Given the description of an element on the screen output the (x, y) to click on. 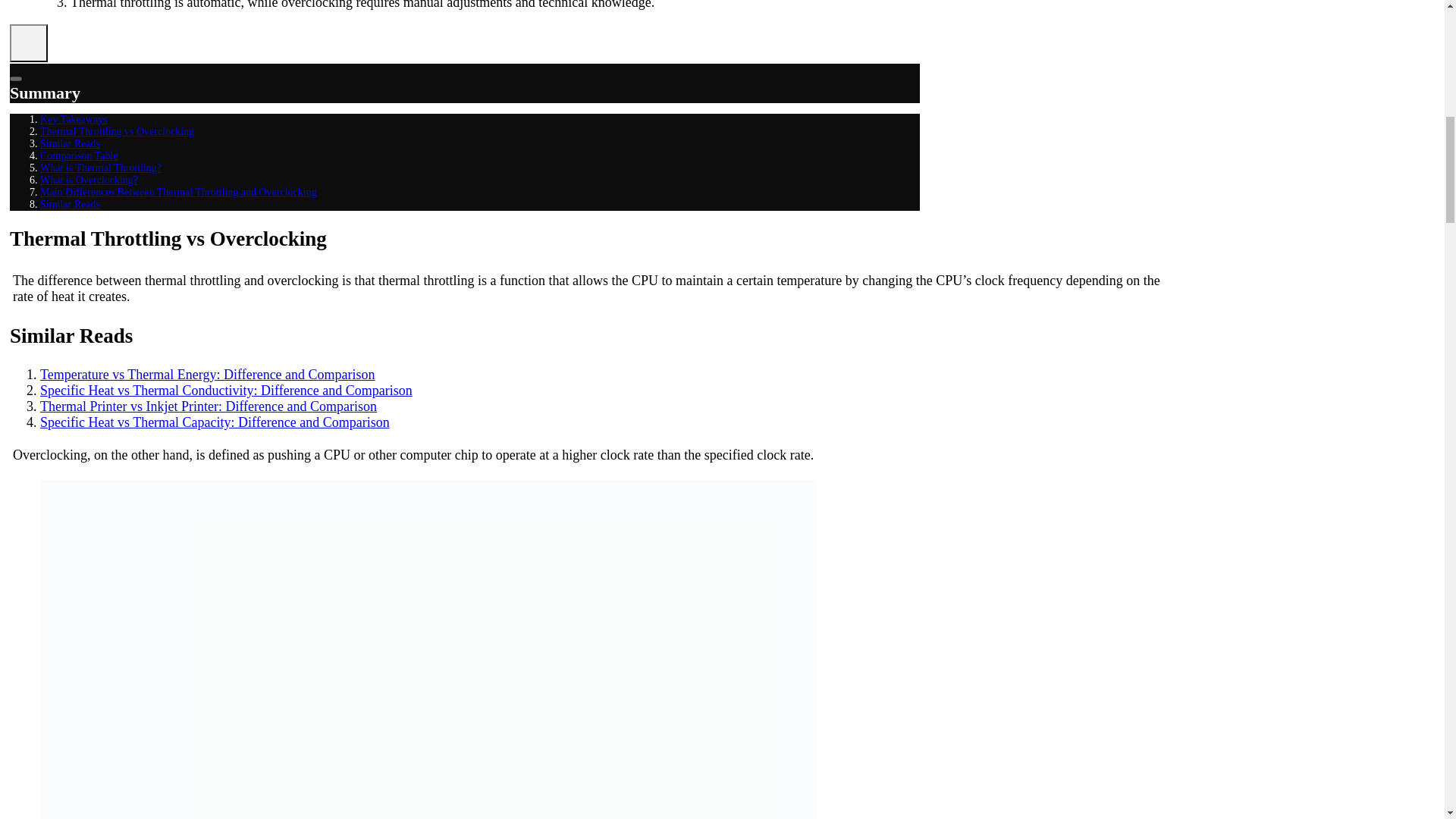
Thermal Throttling vs Overclocking (116, 131)
Temperature vs Thermal Energy: Difference and Comparison (207, 374)
Main Differences Between Thermal Throttling and Overclocking (178, 192)
Comparison Table (78, 155)
Temperature vs Thermal Energy: Difference and Comparison (207, 374)
What is Overclocking? (89, 179)
Key Takeaways (73, 119)
What is Thermal Throttling? (100, 167)
click To Maximize The Table Of Contents (29, 43)
